Given the description of an element on the screen output the (x, y) to click on. 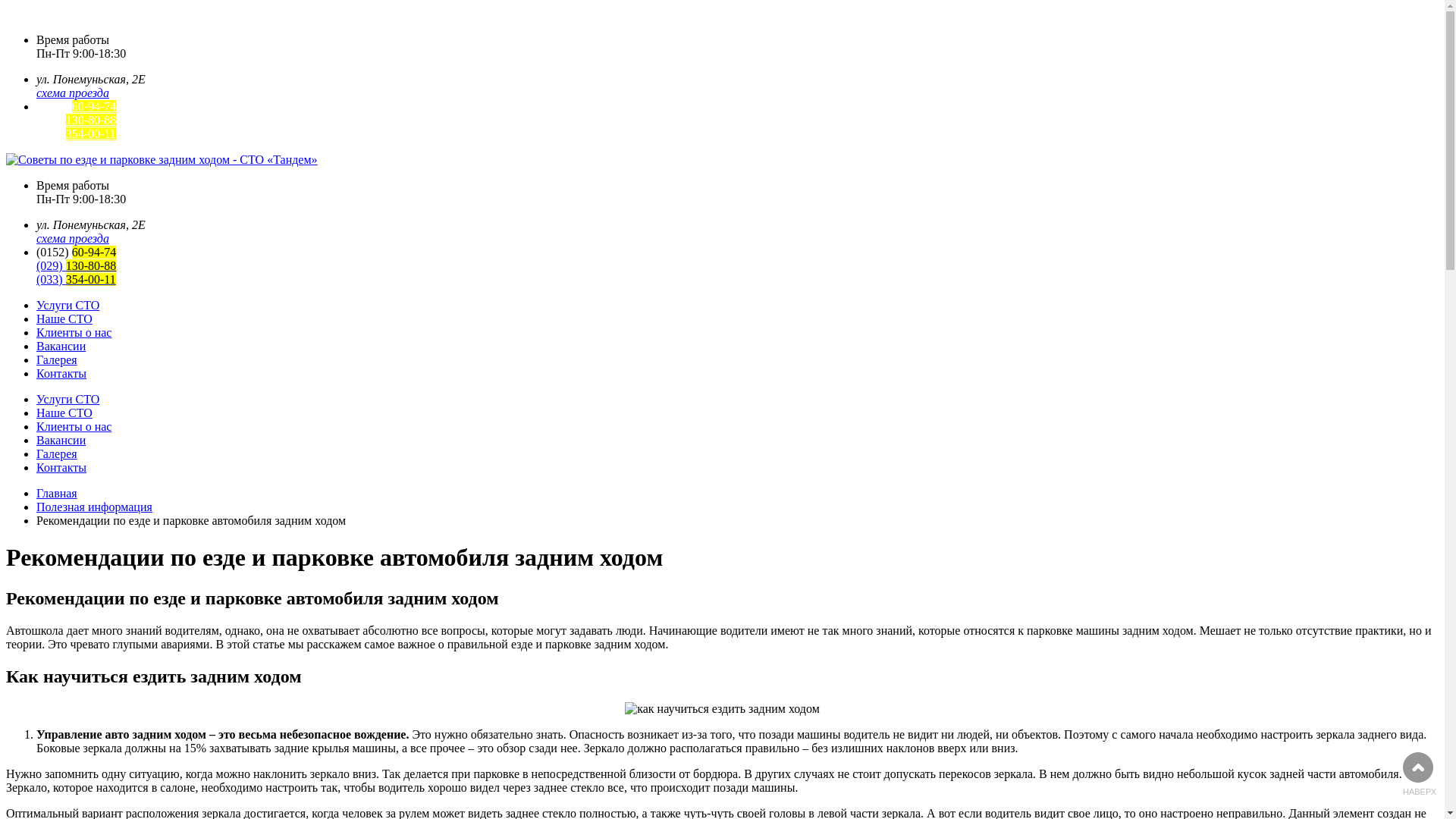
(029) 130-80-88 Element type: text (76, 265)
(033) 354-00-11 Element type: text (76, 133)
(033) 354-00-11 Element type: text (76, 279)
(0152) 60-94-74 Element type: text (76, 106)
(029) 130-80-88 Element type: text (76, 119)
